Given the description of an element on the screen output the (x, y) to click on. 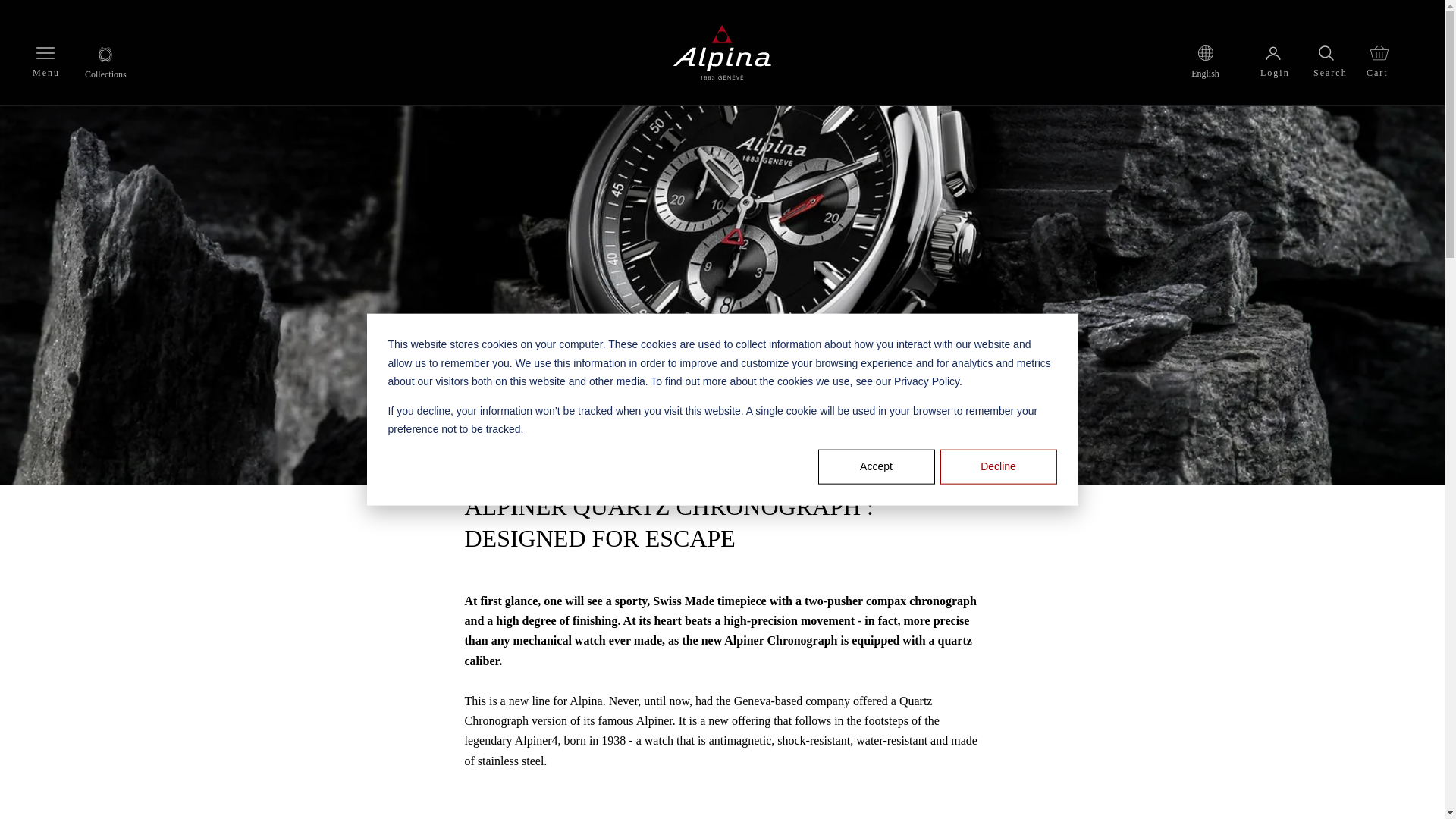
Collections (105, 63)
Cart (1388, 53)
Login (1282, 53)
Search (1336, 53)
Alpina Watches (721, 53)
English (1205, 73)
Menu (45, 53)
